Given the description of an element on the screen output the (x, y) to click on. 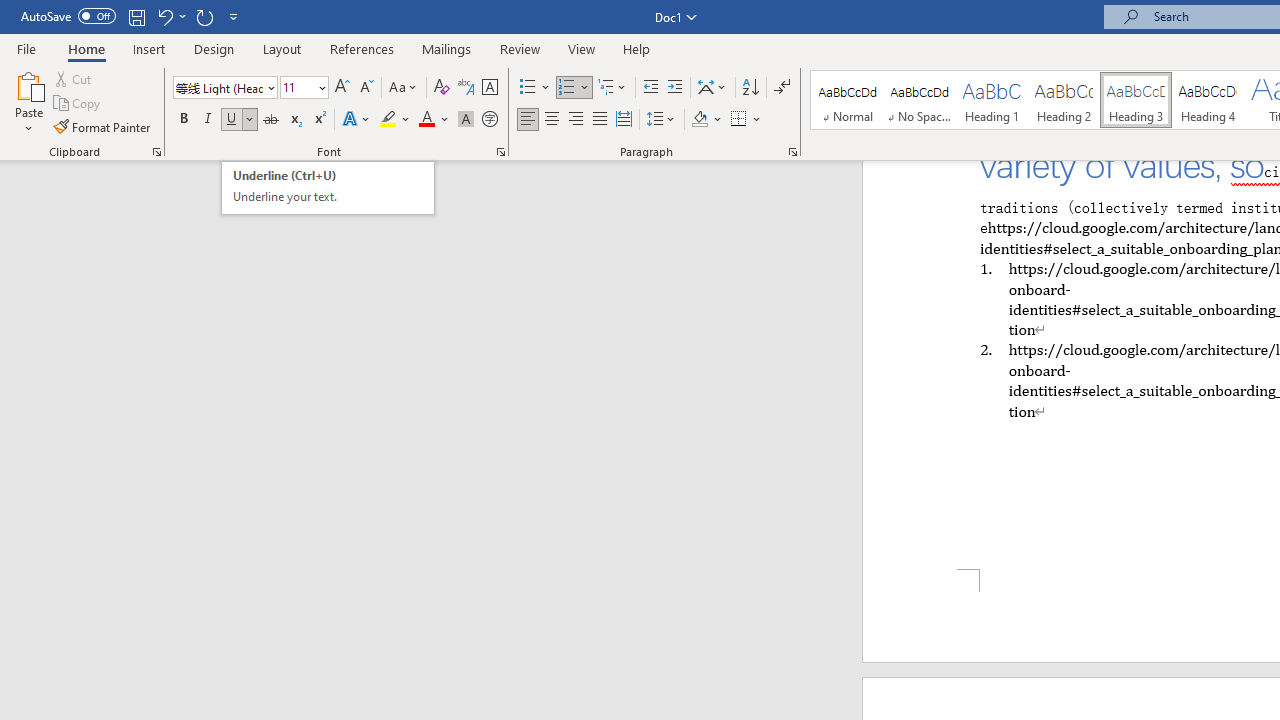
Heading 3 (1135, 100)
